Given the description of an element on the screen output the (x, y) to click on. 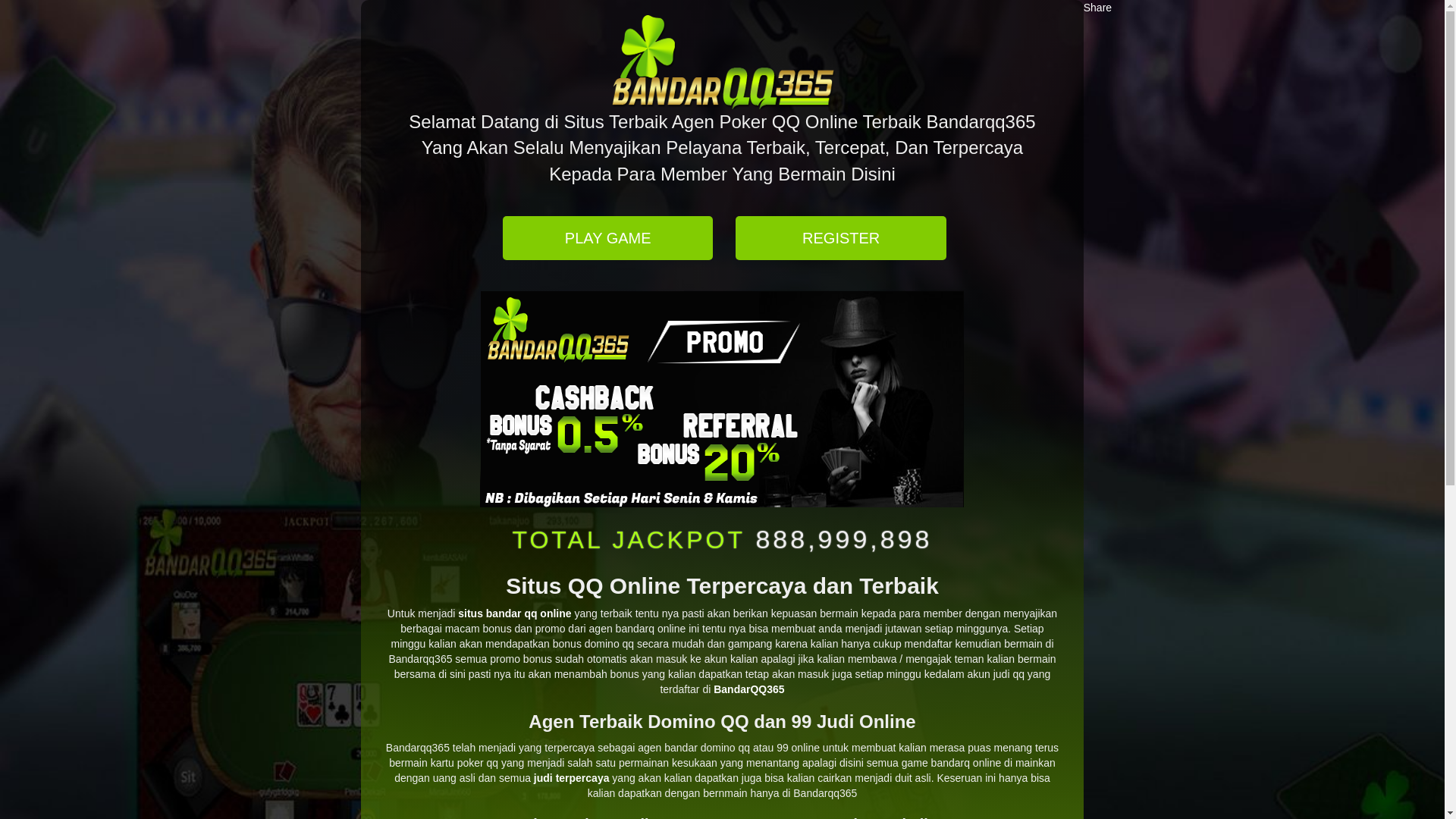
REGISTER Element type: text (840, 238)
situs domino qq online terpercaya Element type: hover (721, 399)
situs bandar qq online Element type: text (514, 613)
PLAY GAME Element type: text (607, 238)
BandarQQ365 Element type: text (748, 689)
PLAY GAME Element type: text (607, 239)
REGISTER Element type: text (840, 239)
Share Element type: text (1097, 7)
judi terpercaya Element type: text (571, 777)
